Given the description of an element on the screen output the (x, y) to click on. 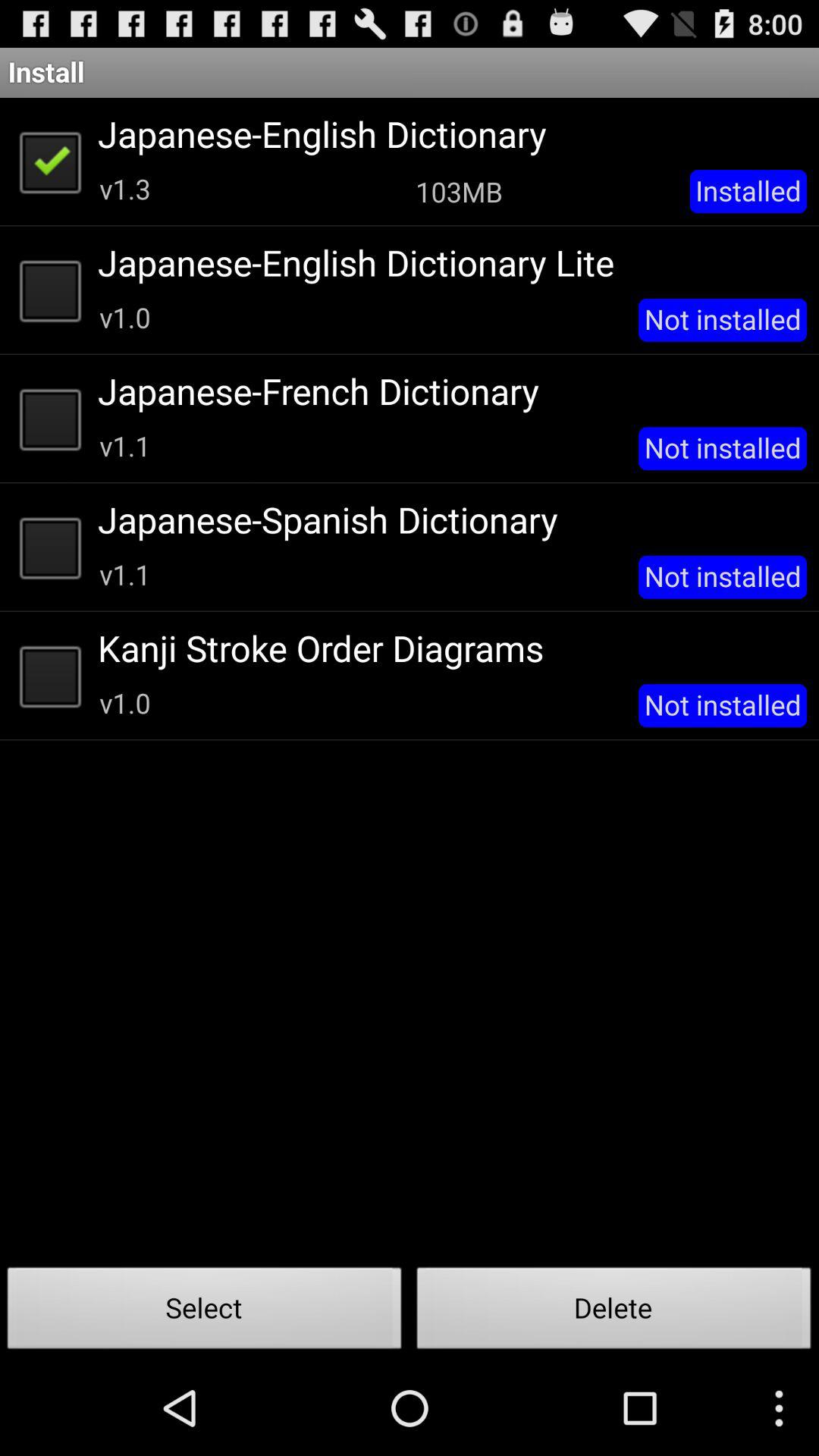
scroll until kanji stroke order icon (447, 647)
